Given the description of an element on the screen output the (x, y) to click on. 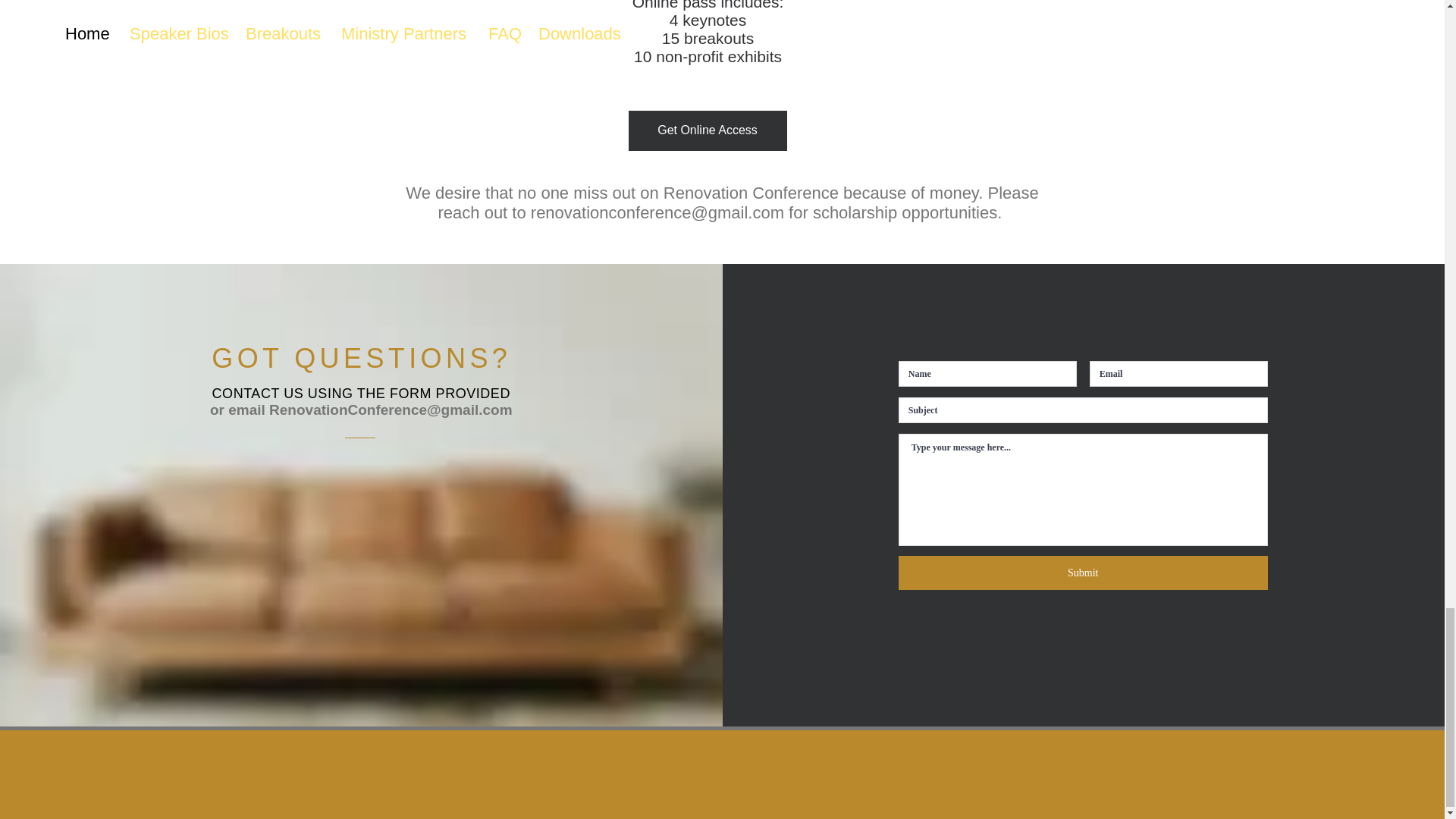
Get Online Access (706, 130)
Submit (1083, 572)
